Given the description of an element on the screen output the (x, y) to click on. 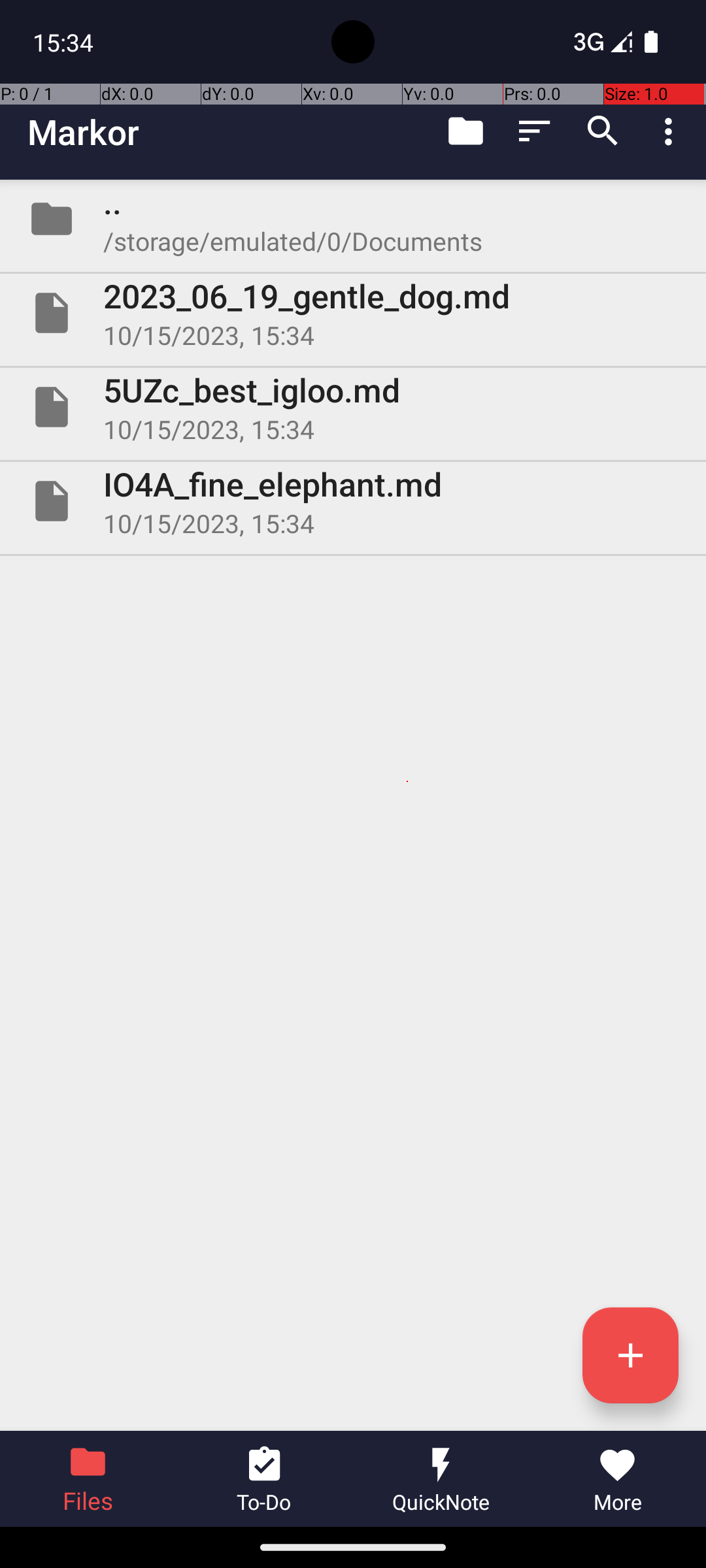
File 2023_06_19_gentle_dog.md  Element type: android.widget.LinearLayout (353, 312)
File 5UZc_best_igloo.md  Element type: android.widget.LinearLayout (353, 406)
File IO4A_fine_elephant.md  Element type: android.widget.LinearLayout (353, 500)
